Given the description of an element on the screen output the (x, y) to click on. 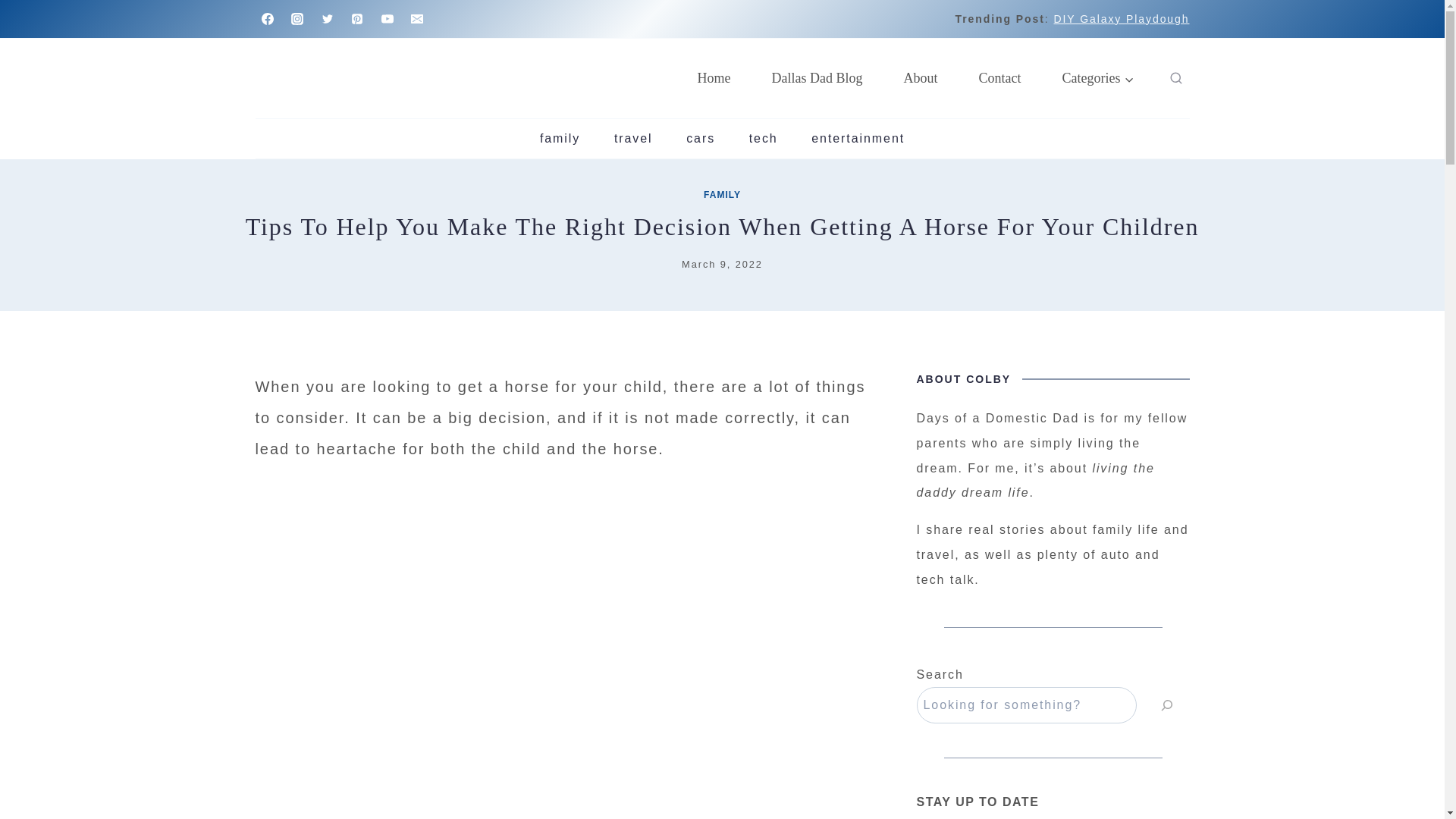
Home (714, 78)
About (920, 78)
Categories (1098, 78)
FAMILY (722, 194)
family (559, 138)
tech (763, 138)
Days of a Domestic Dad (714, 78)
cars (700, 138)
travel (632, 138)
Contact (1000, 78)
